Given the description of an element on the screen output the (x, y) to click on. 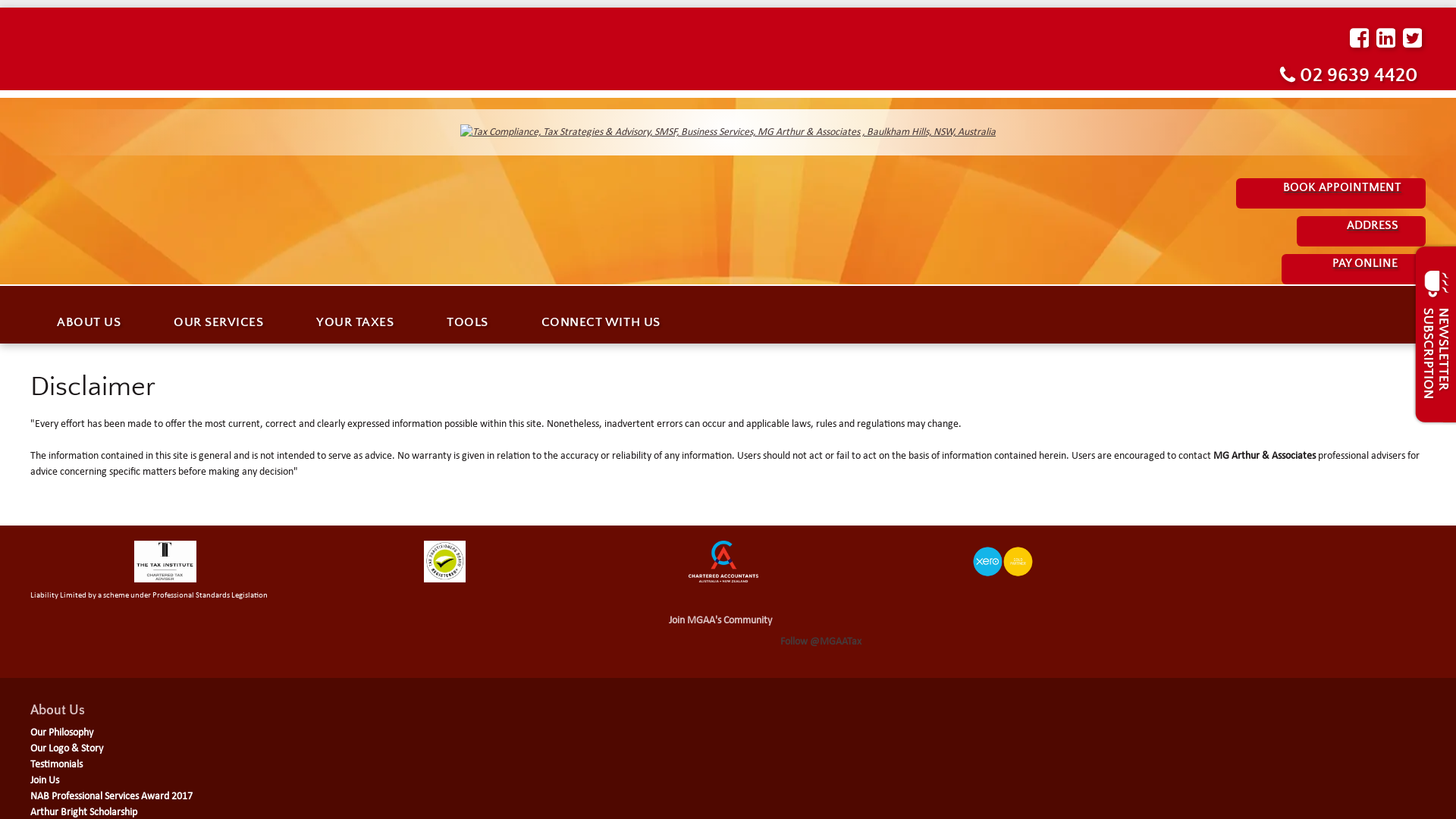
Arthur Bright Scholarship Element type: text (83, 812)
MG ARTHUR & ASSOCIATES Element type: hover (727, 132)
BOOK APPOINTMENT Element type: text (1330, 193)
Our Philosophy Element type: text (61, 732)
Join Us Element type: text (44, 780)
NAB Professional Services Award 2017 Element type: text (111, 796)
https://www.linkedin.com/company/m-g-arthur-&-associates/ Element type: text (1385, 39)
https://twitter.com/MGAATax Element type: text (1412, 39)
CONNECT WITH US Element type: text (600, 322)
OUR SERVICES Element type: text (218, 322)
ABOUT US Element type: text (88, 322)
YOUR TAXES Element type: text (354, 322)
ADDRESS Element type: text (1360, 231)
02 9639 4420 Element type: text (1347, 75)
PAY ONLINE Element type: text (1353, 269)
Our Logo & Story Element type: text (66, 748)
Testimonials Element type: text (56, 764)
TOOLS Element type: text (467, 322)
Follow @MGAATax Element type: text (820, 642)
